Given the description of an element on the screen output the (x, y) to click on. 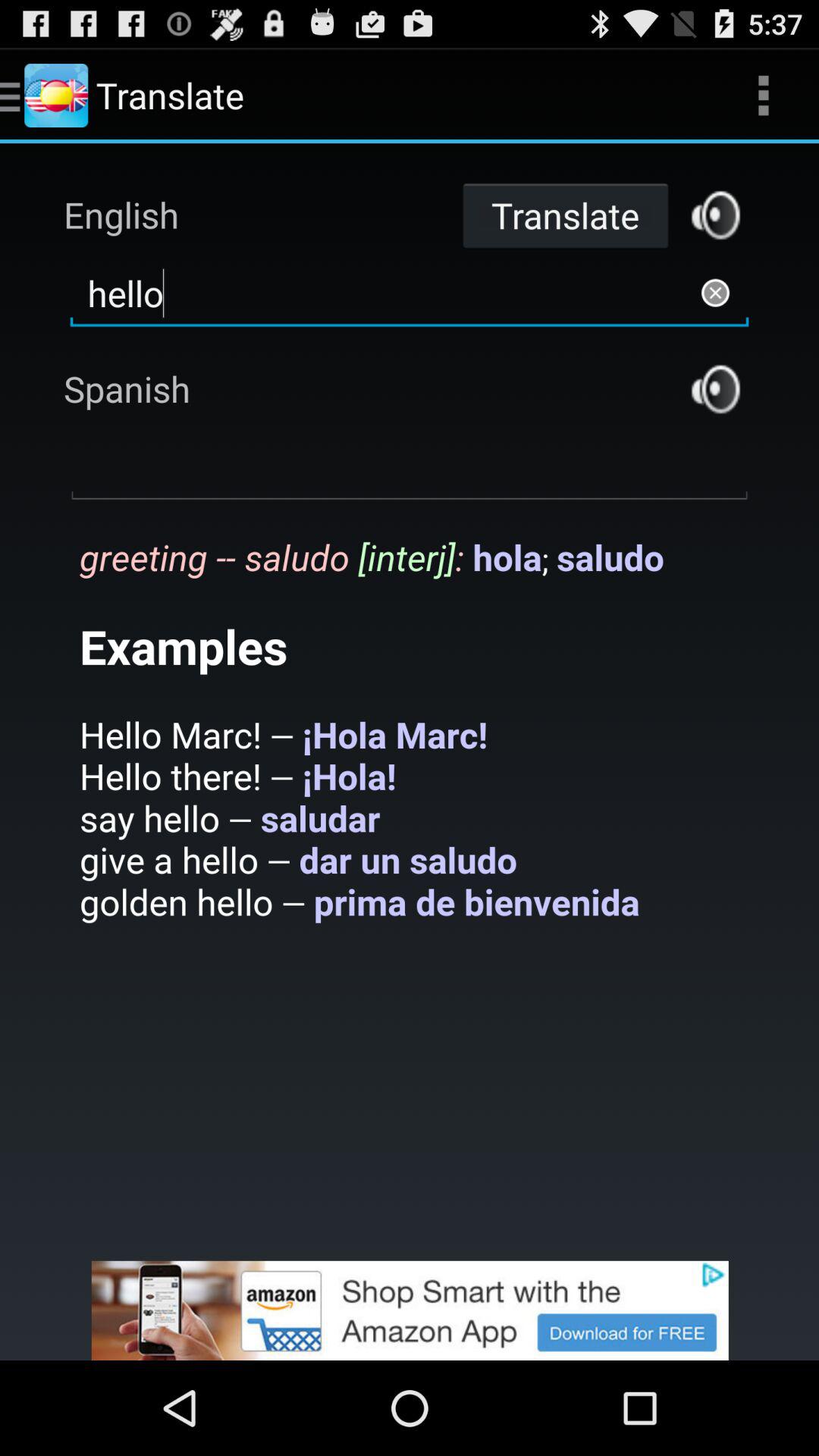
view the adversitement (409, 1310)
